Given the description of an element on the screen output the (x, y) to click on. 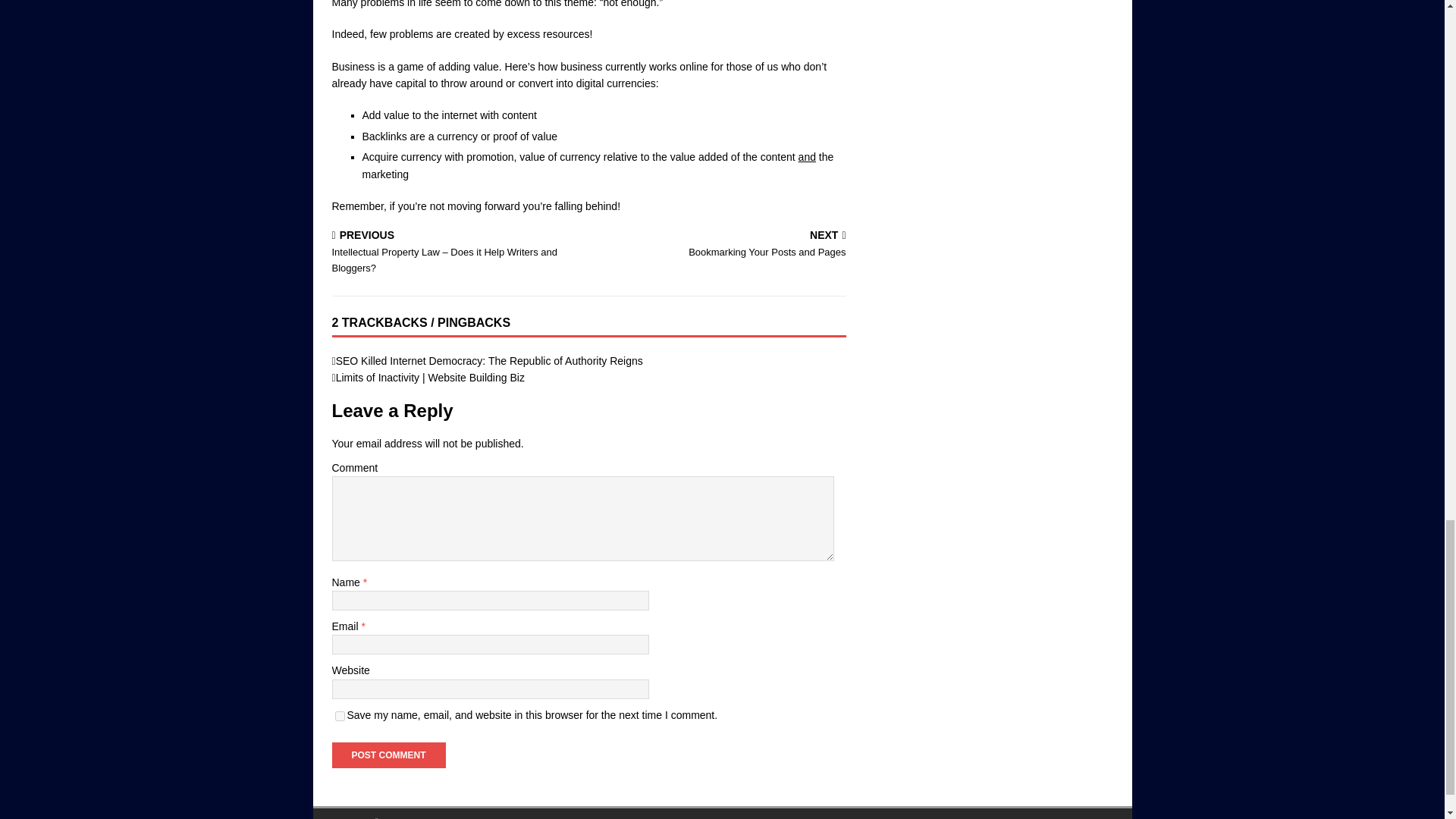
Post Comment (388, 755)
Post Comment (388, 755)
yes (339, 716)
